Given the description of an element on the screen output the (x, y) to click on. 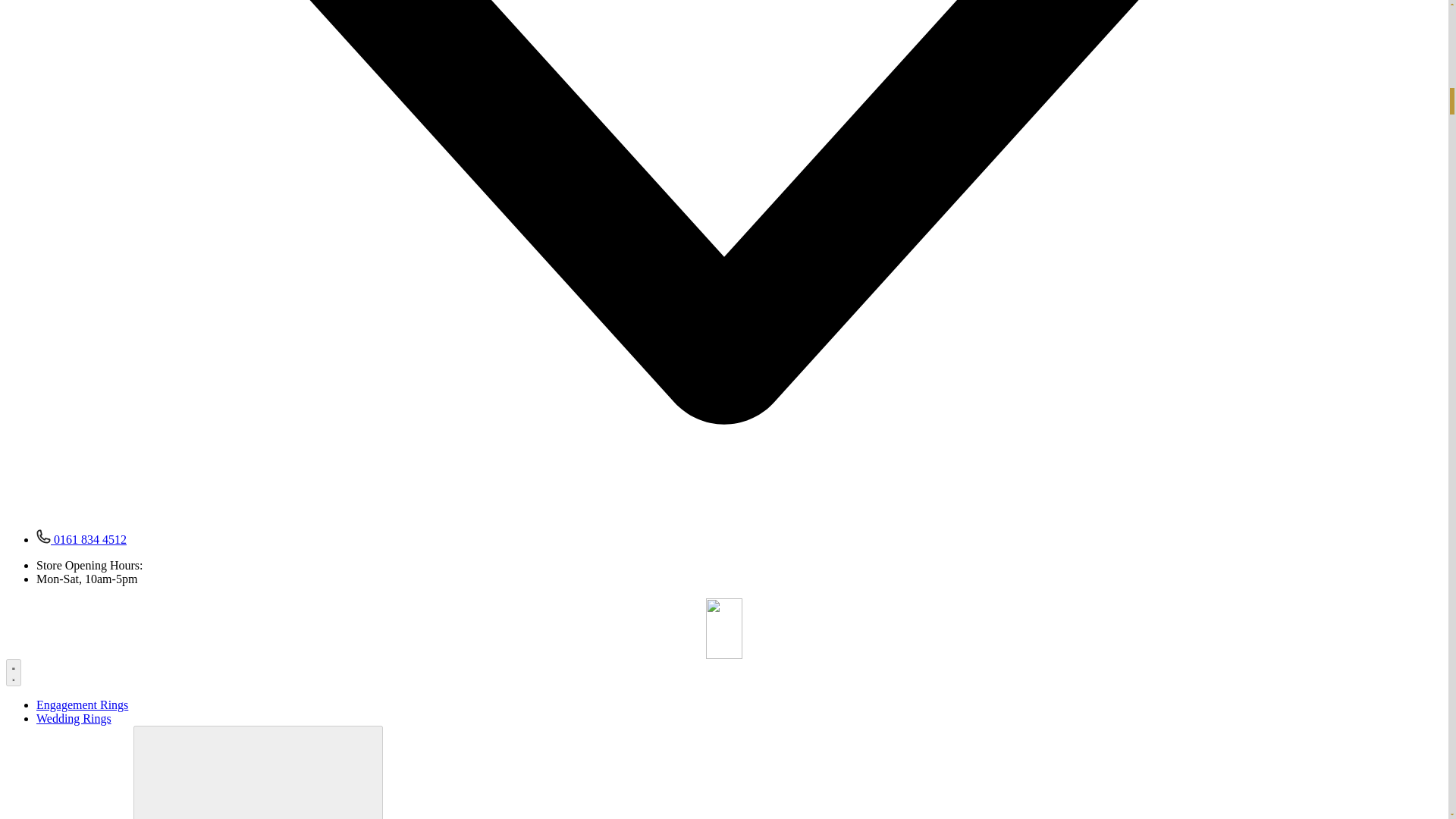
0161 834 4512 (81, 539)
Close Women's Jewellery Open Women's Jewellery (257, 772)
Engagement Rings (82, 704)
Wedding Rings (74, 717)
